Given the description of an element on the screen output the (x, y) to click on. 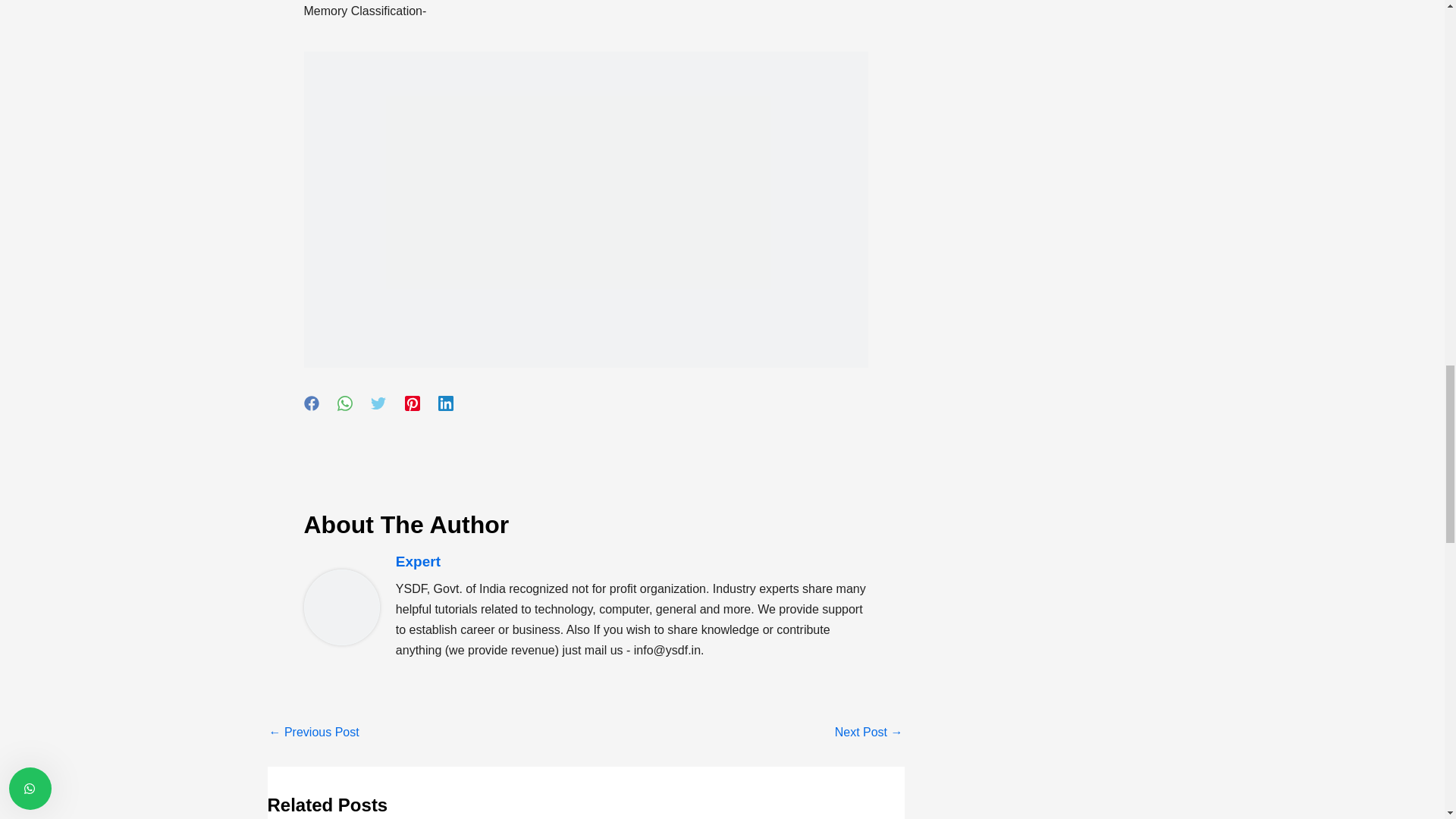
VLOOKUP function in excel (868, 732)
